Given the description of an element on the screen output the (x, y) to click on. 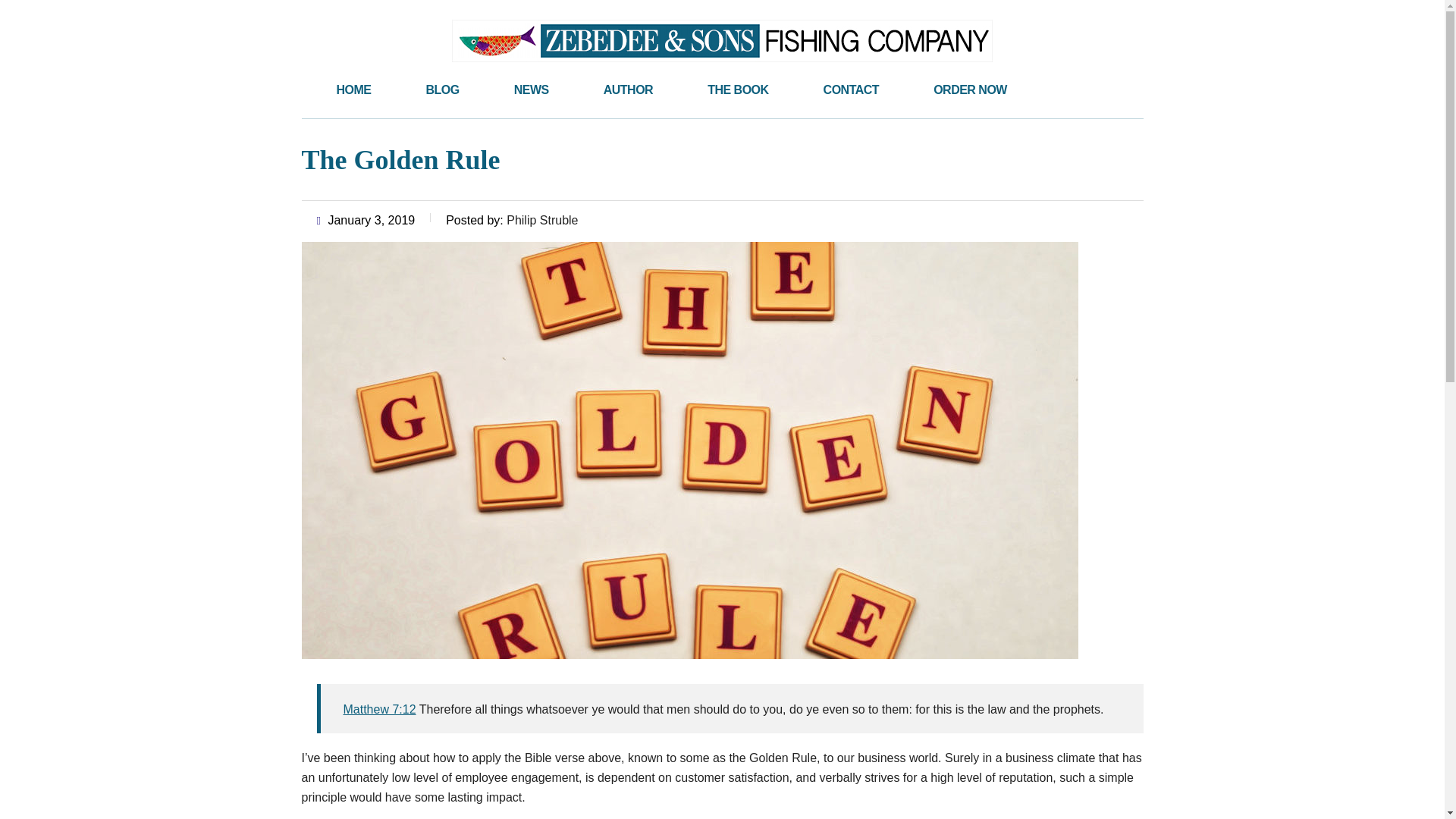
CONTACT (851, 89)
THE BOOK (737, 89)
BLOG (442, 89)
Matthew 7:12 (378, 708)
ORDER NOW (970, 89)
HOME (354, 89)
AUTHOR (627, 89)
NEWS (532, 89)
